Given the description of an element on the screen output the (x, y) to click on. 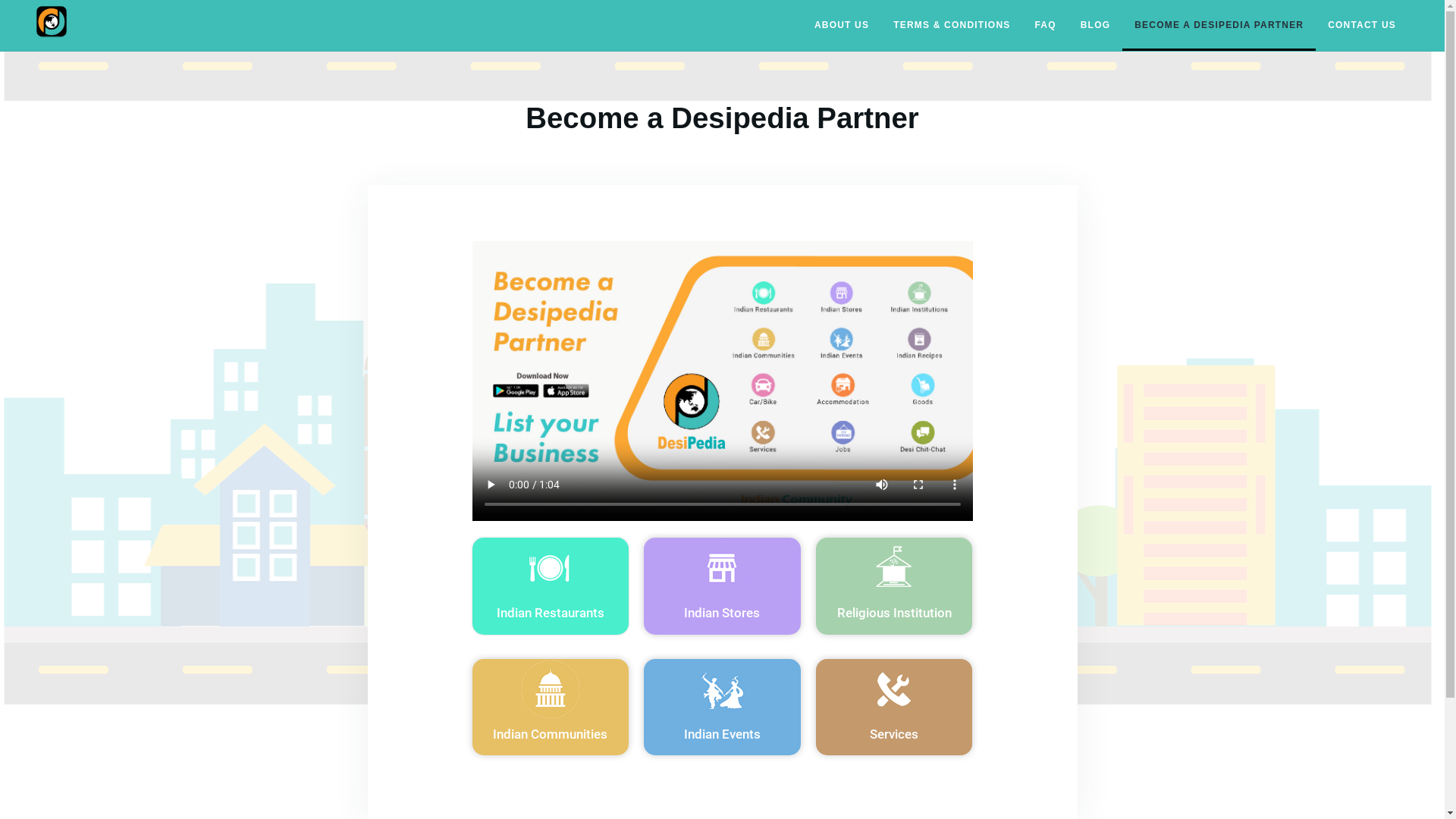
Religious Institution Element type: text (893, 619)
BLOG Element type: text (1095, 25)
Indian Communities Element type: text (549, 740)
BECOME A DESIPEDIA PARTNER Element type: text (1218, 25)
ABOUT US Element type: text (841, 25)
Indian Stores Element type: text (721, 619)
TERMS & CONDITIONS Element type: text (951, 25)
Desipedia Blog Element type: hover (51, 32)
FAQ Element type: text (1044, 25)
Desipedia Blog Element type: text (101, 55)
Services Element type: text (893, 740)
CONTACT US Element type: text (1361, 25)
Indian Restaurants Element type: text (549, 619)
Indian Events Element type: text (721, 740)
